Given the description of an element on the screen output the (x, y) to click on. 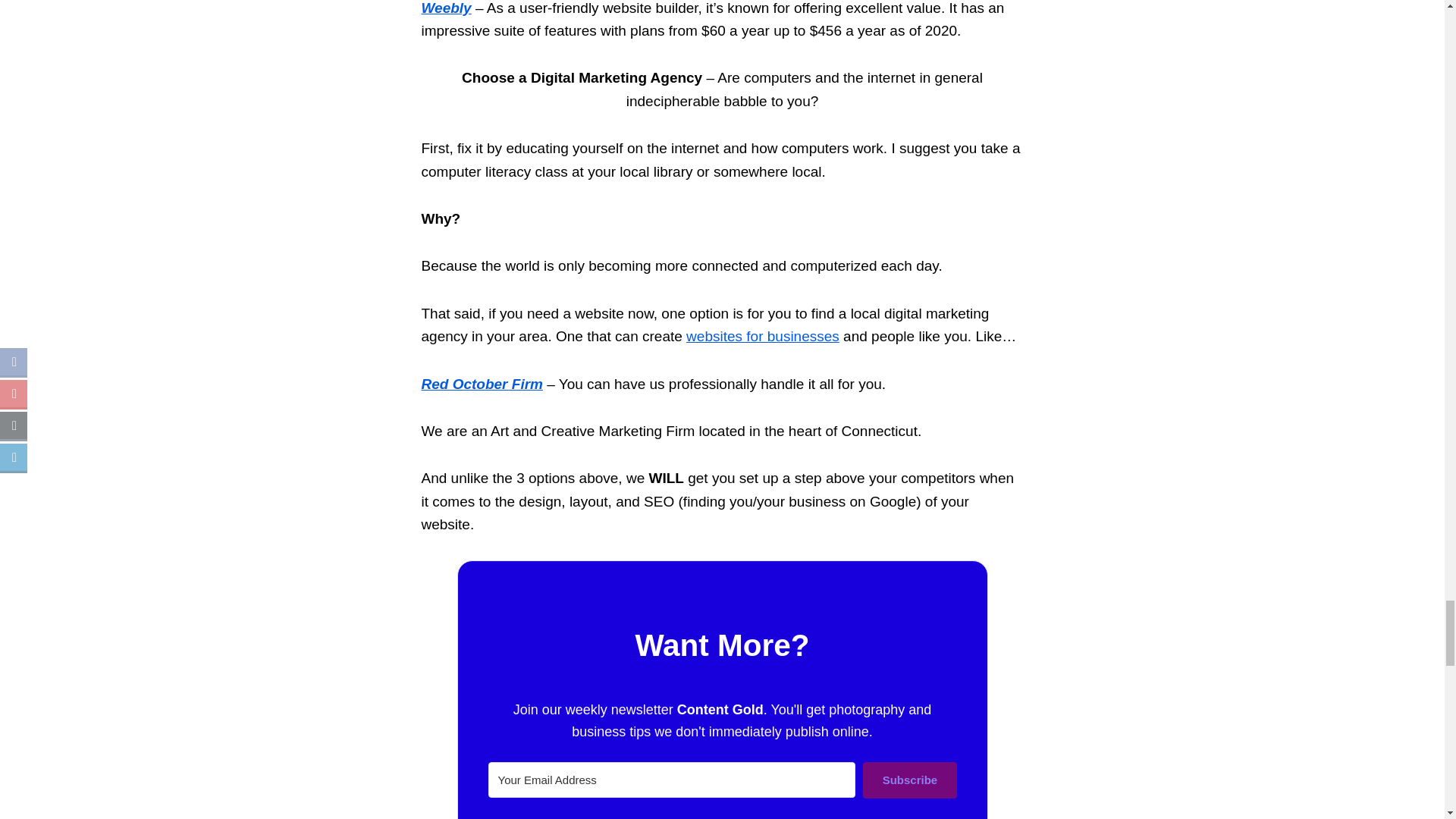
Weebly (446, 7)
websites for businesses (762, 335)
Red October Firm (482, 383)
Subscribe (909, 780)
